Given the description of an element on the screen output the (x, y) to click on. 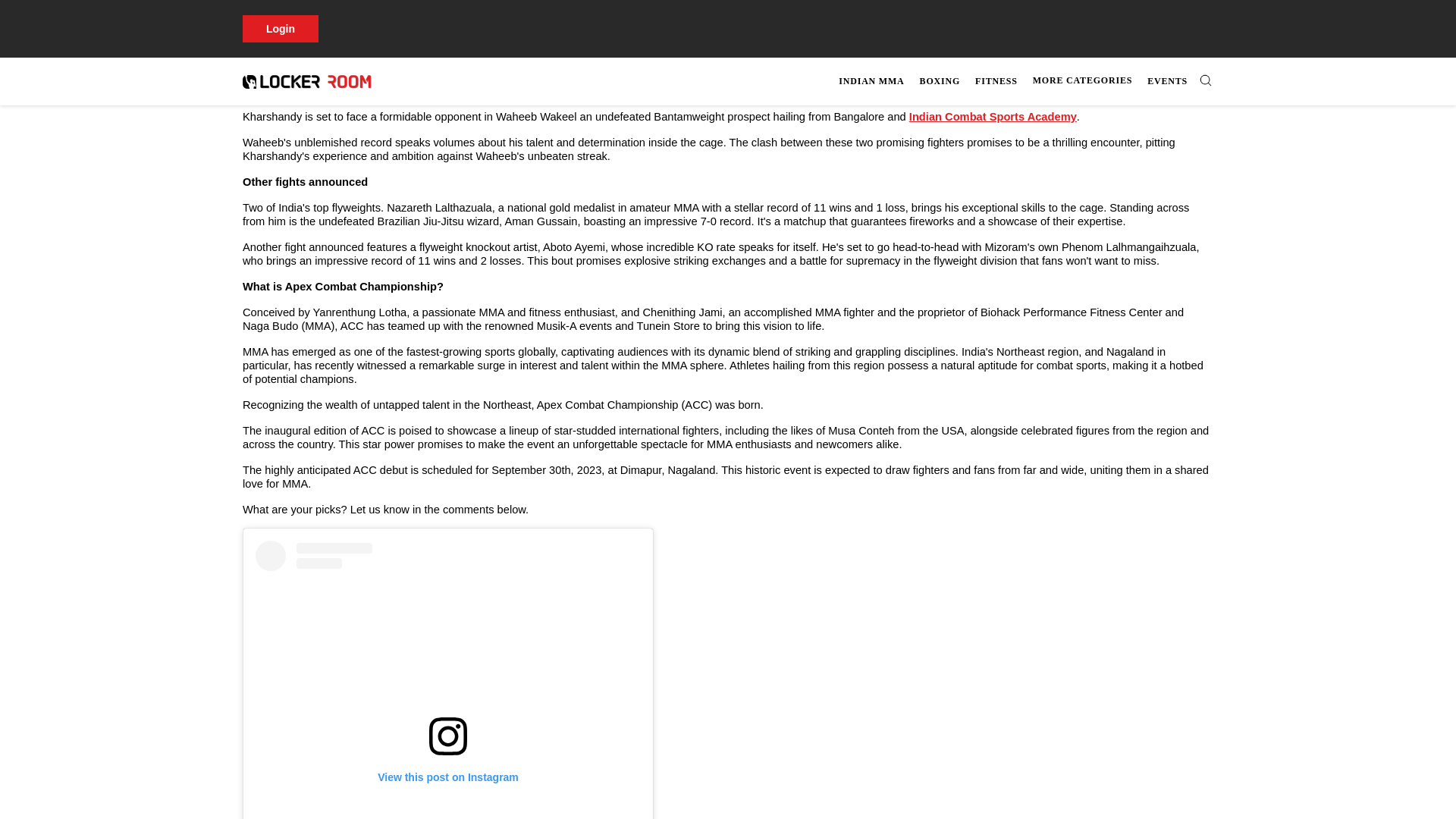
Indian Combat Sports Academy (992, 116)
View this post on Instagram (448, 679)
